Given the description of an element on the screen output the (x, y) to click on. 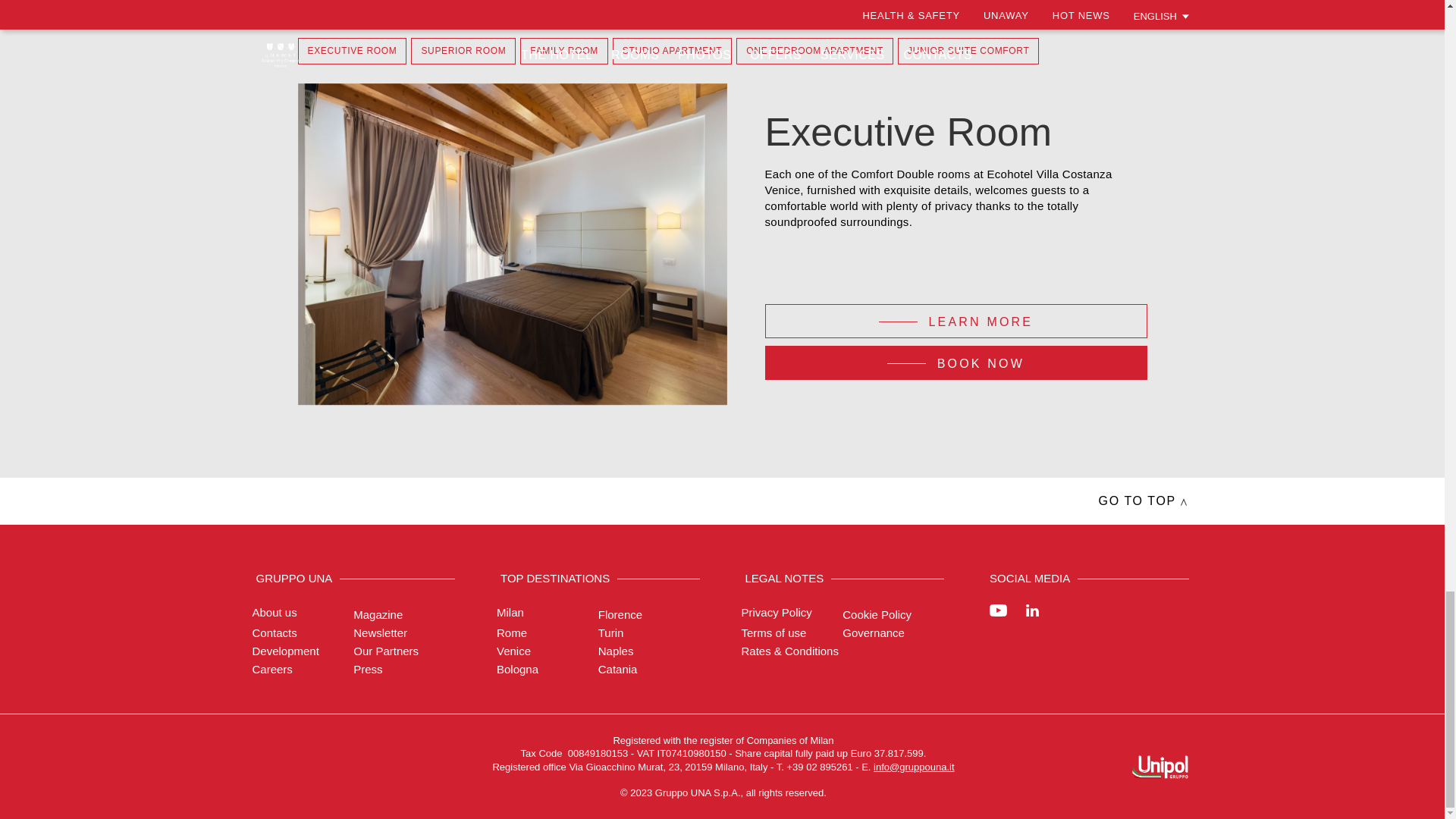
FAMILY ROOM (563, 50)
EXECUTIVE ROOM (351, 50)
STUDIO APARTMENT (672, 50)
GO TO TOP (1142, 500)
JUNIOR SUITE COMFORT (968, 50)
ONE BEDROOM APARTMENT (814, 50)
SUPERIOR ROOM (462, 50)
